Given the description of an element on the screen output the (x, y) to click on. 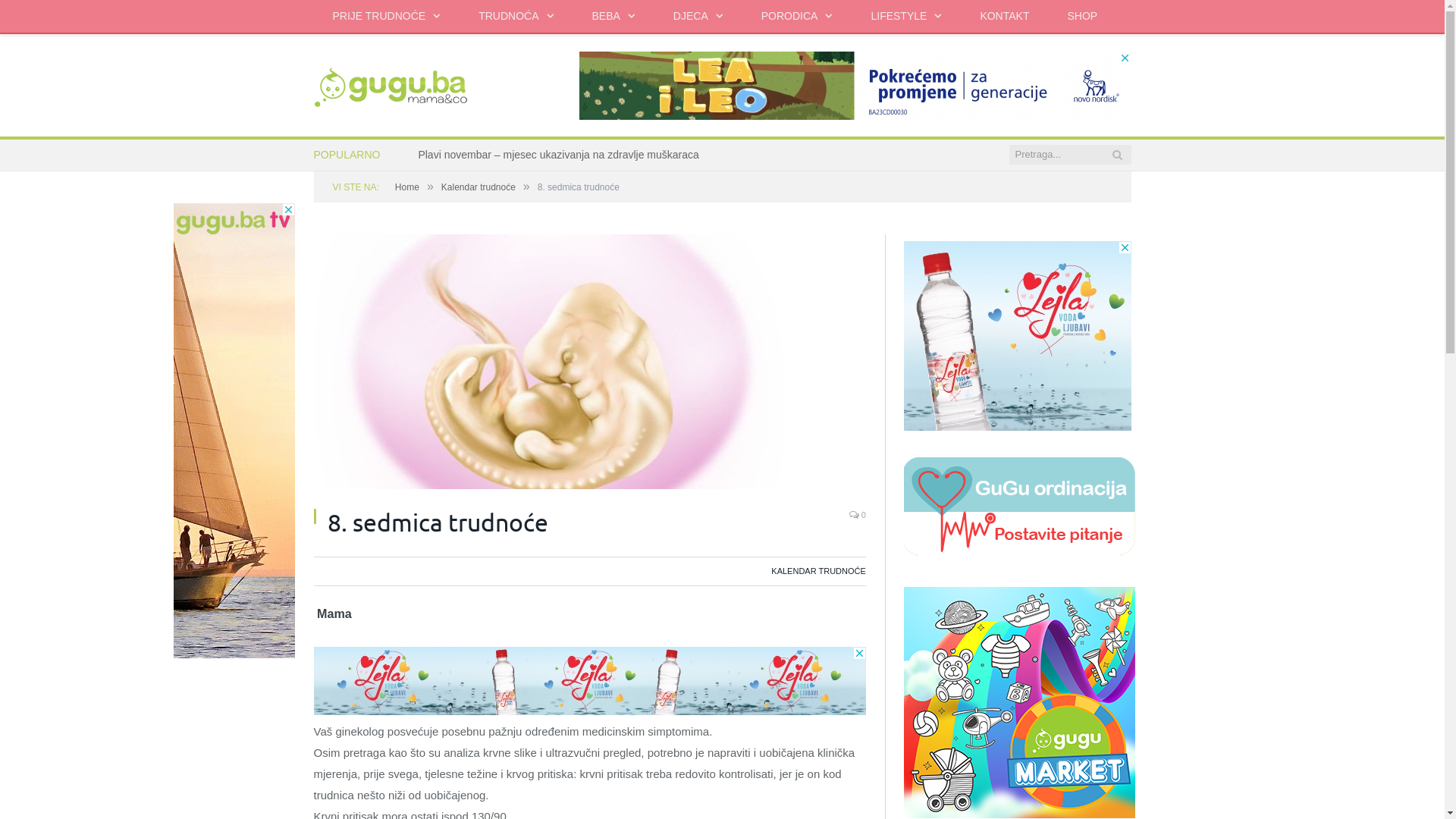
GuGu mama&co. Element type: hover (390, 84)
DJECA Element type: text (698, 17)
SHOP Element type: text (1082, 17)
3rd party ad content Element type: hover (589, 680)
3rd party ad content Element type: hover (233, 430)
PORODICA Element type: text (797, 17)
LIFESTYLE Element type: text (905, 17)
BEBA Element type: text (613, 17)
3rd party ad content Element type: hover (855, 85)
Gugu ordinacija Element type: hover (1019, 552)
Home Element type: text (407, 187)
3rd party ad content Element type: hover (1017, 335)
0 Element type: text (857, 514)
KONTAKT Element type: text (1004, 17)
